Given the description of an element on the screen output the (x, y) to click on. 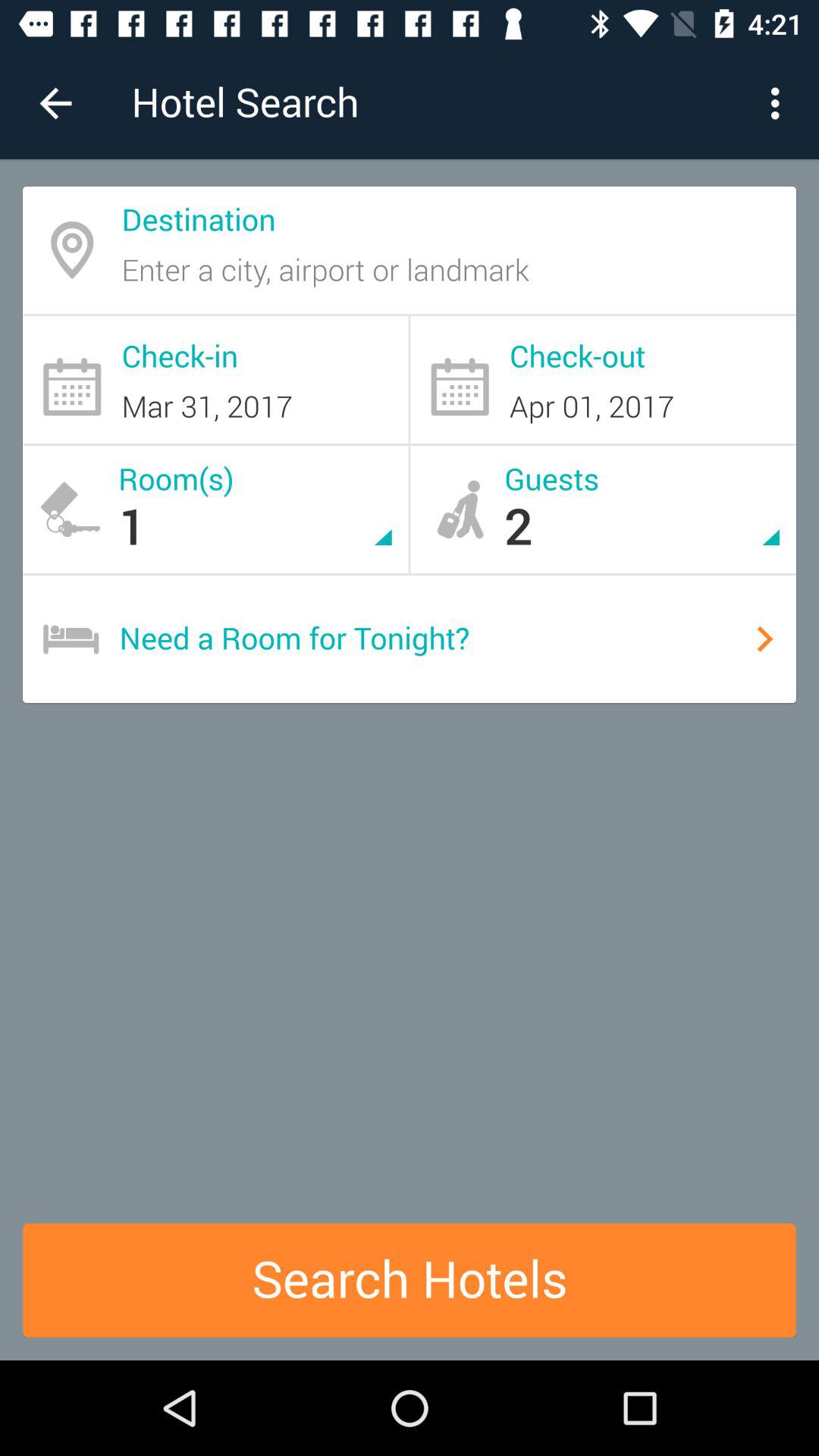
swipe until the search hotels icon (409, 1280)
